Given the description of an element on the screen output the (x, y) to click on. 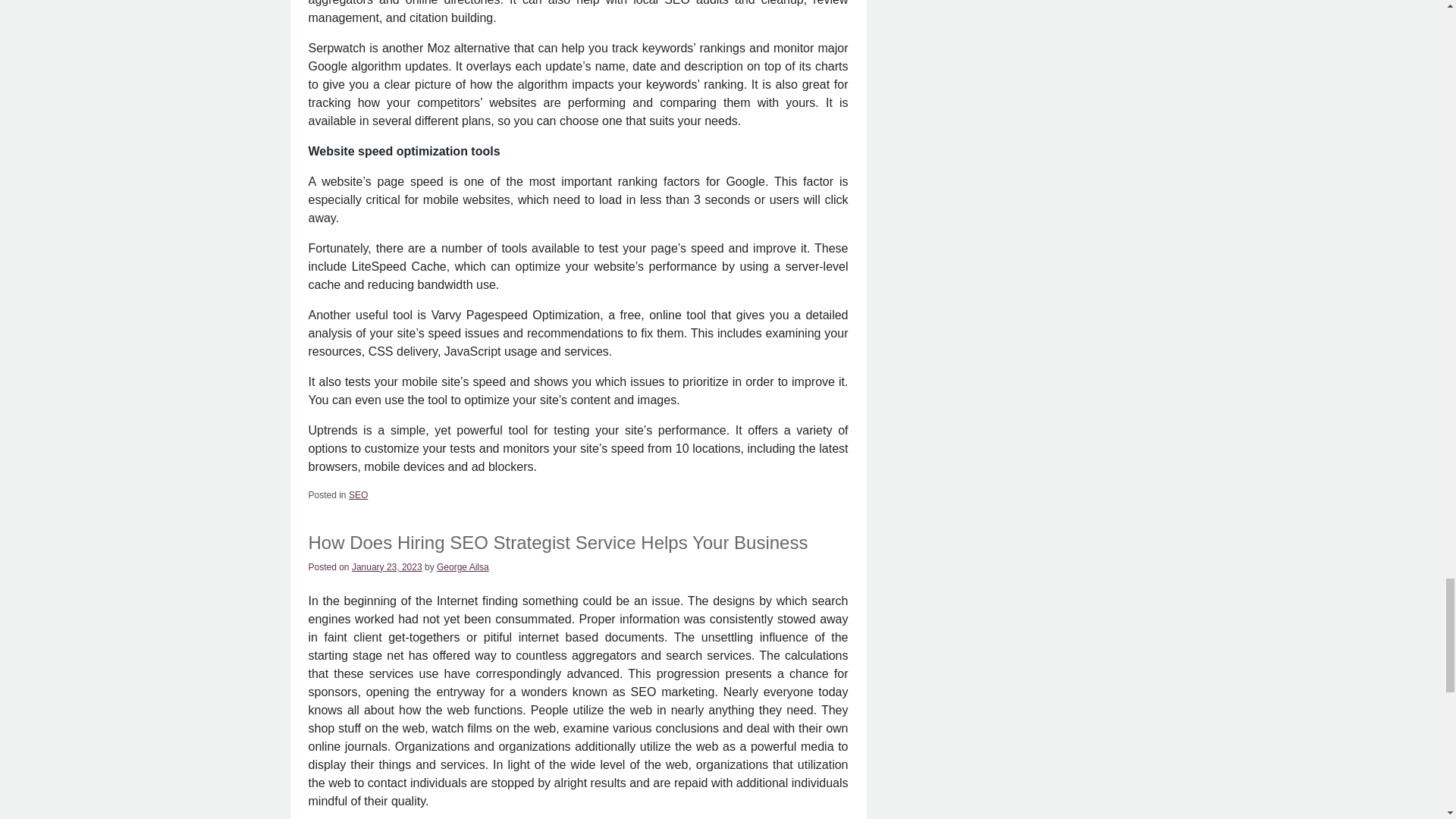
How Does Hiring SEO Strategist Service Helps Your Business (557, 542)
January 23, 2023 (387, 566)
SEO (358, 494)
George Ailsa (462, 566)
